Given the description of an element on the screen output the (x, y) to click on. 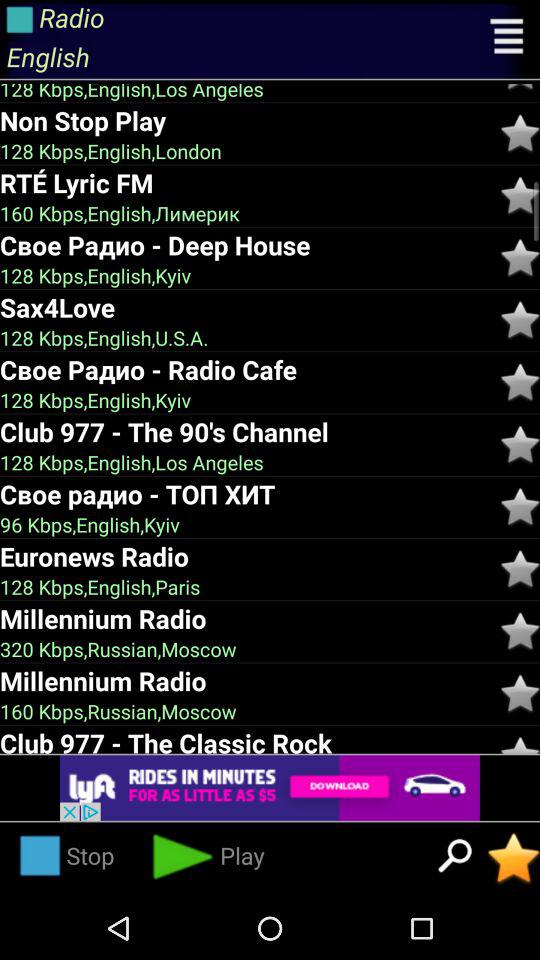
settings (508, 39)
